Given the description of an element on the screen output the (x, y) to click on. 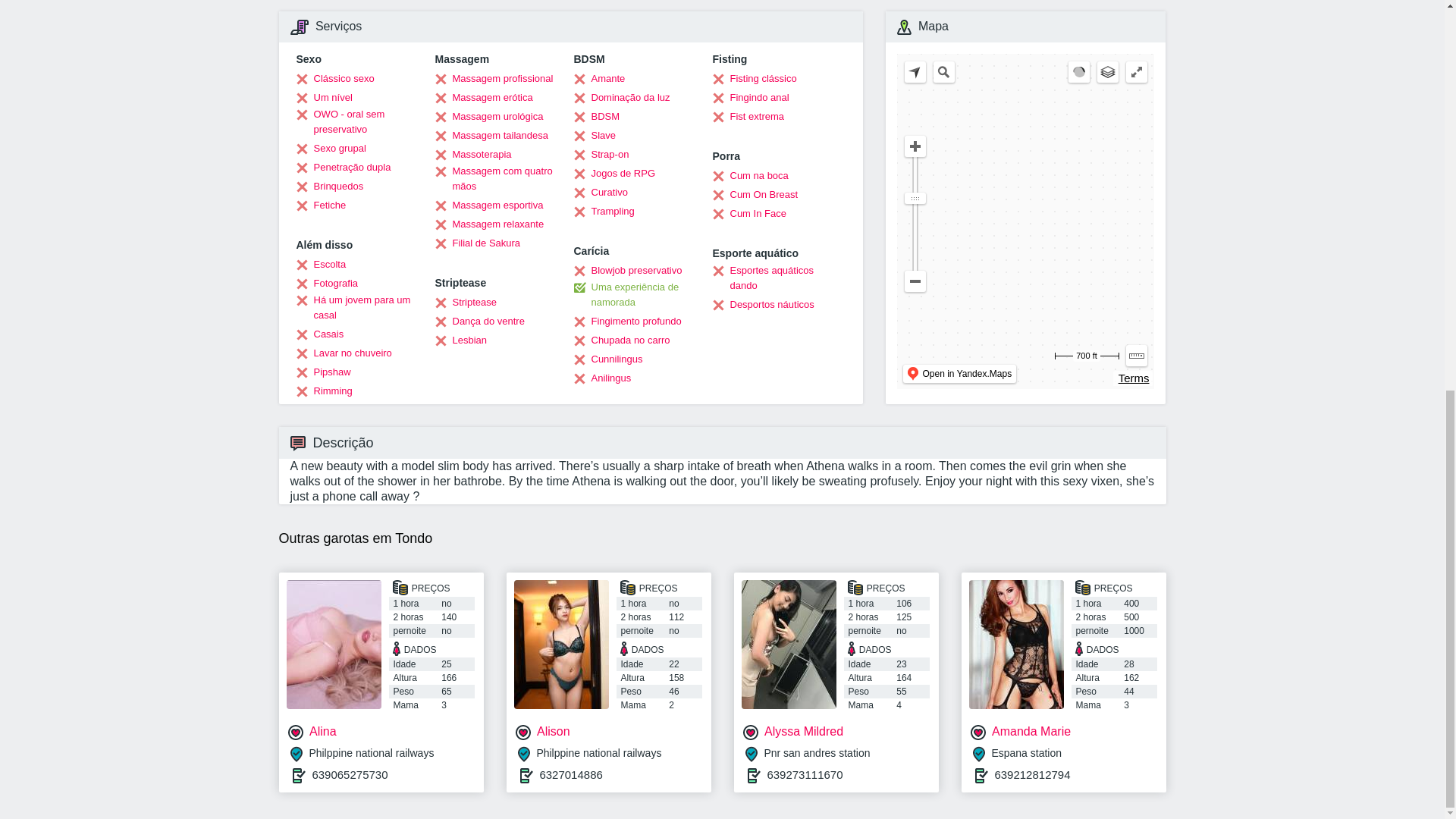
Detect your current location (914, 71)
Escolta (320, 264)
Rimming (323, 391)
Sexo grupal (330, 148)
Lavar no chuveiro (343, 353)
Search (943, 71)
Pipshaw (322, 372)
Measure distance between points on map (1136, 355)
Massagem profissional (494, 78)
Casais (319, 334)
Fotografia (326, 283)
Fetiche (320, 205)
Open in Yandex.Maps (959, 373)
OWO - oral sem preservativo (359, 122)
Brinquedos (328, 186)
